Given the description of an element on the screen output the (x, y) to click on. 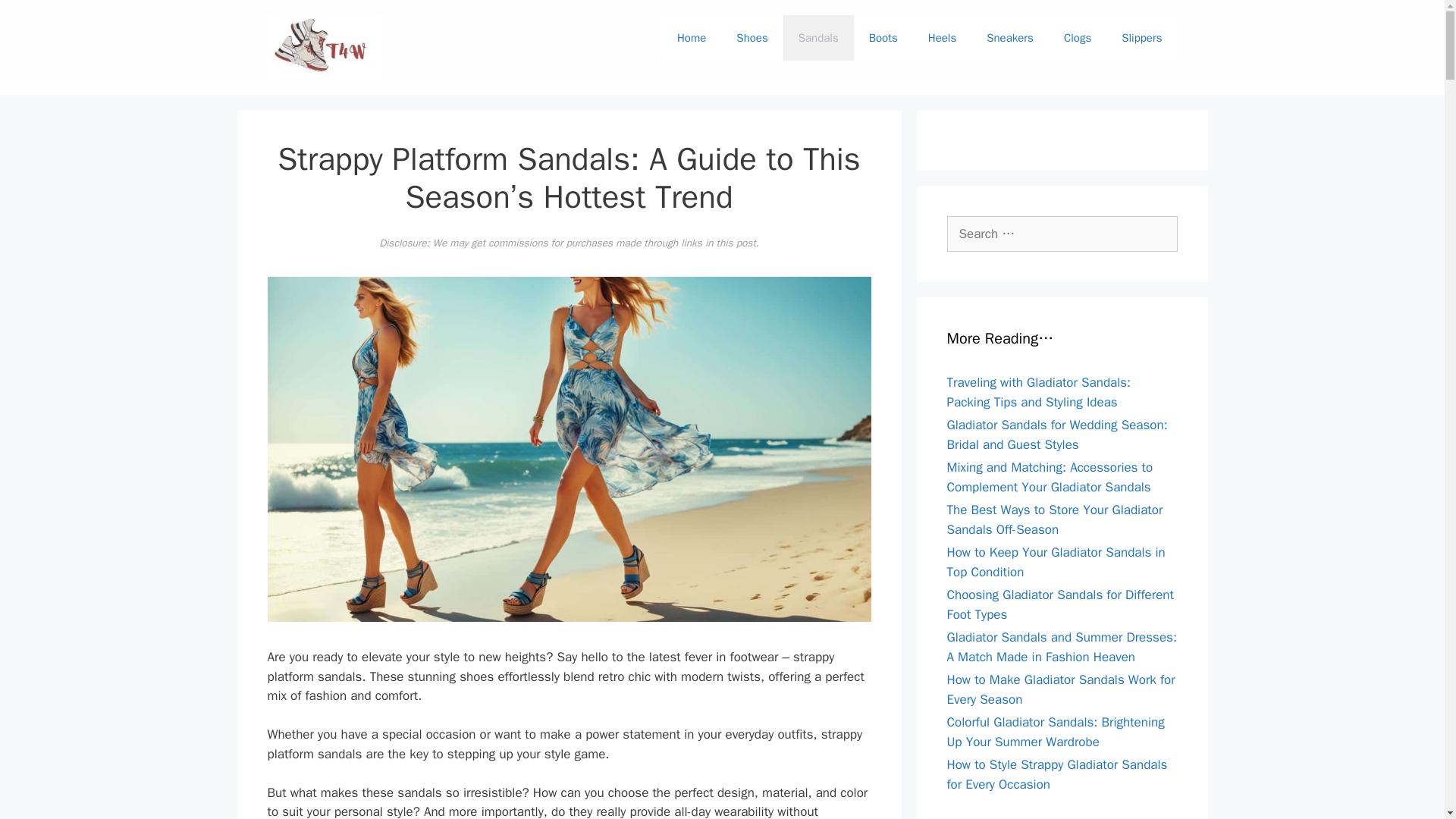
Search for: (1061, 234)
Sandals (818, 37)
Boots (882, 37)
The Best Ways to Store Your Gladiator Sandals Off-Season (1053, 519)
Shoes (751, 37)
How to Keep Your Gladiator Sandals in Top Condition (1055, 561)
How to Make Gladiator Sandals Work for Every Season (1060, 689)
How to Style Strappy Gladiator Sandals for Every Occasion (1056, 774)
Search (35, 18)
Home (691, 37)
Sneakers (1009, 37)
Clogs (1077, 37)
Slippers (1141, 37)
